Given the description of an element on the screen output the (x, y) to click on. 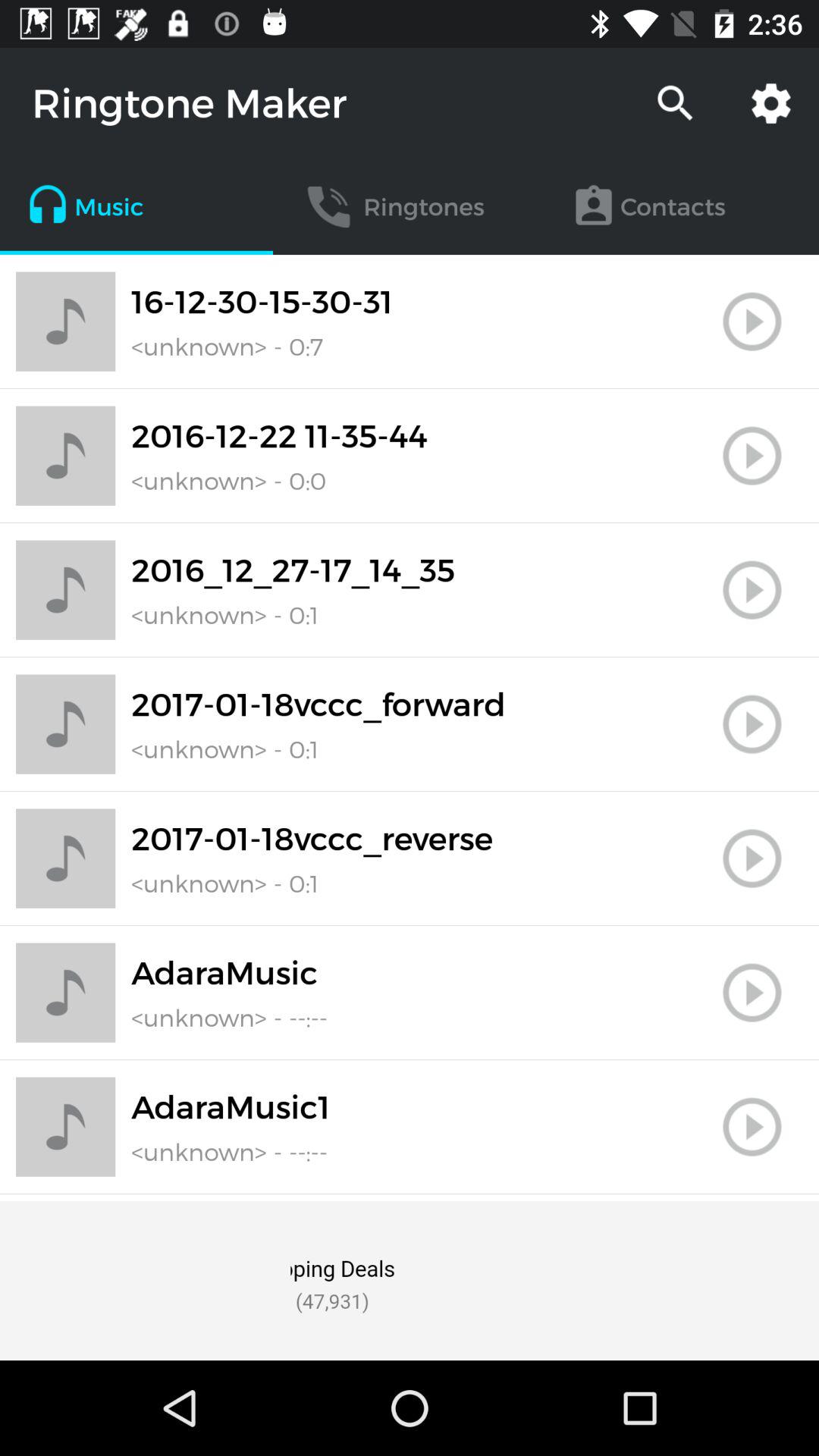
play ringtone (752, 1126)
